Given the description of an element on the screen output the (x, y) to click on. 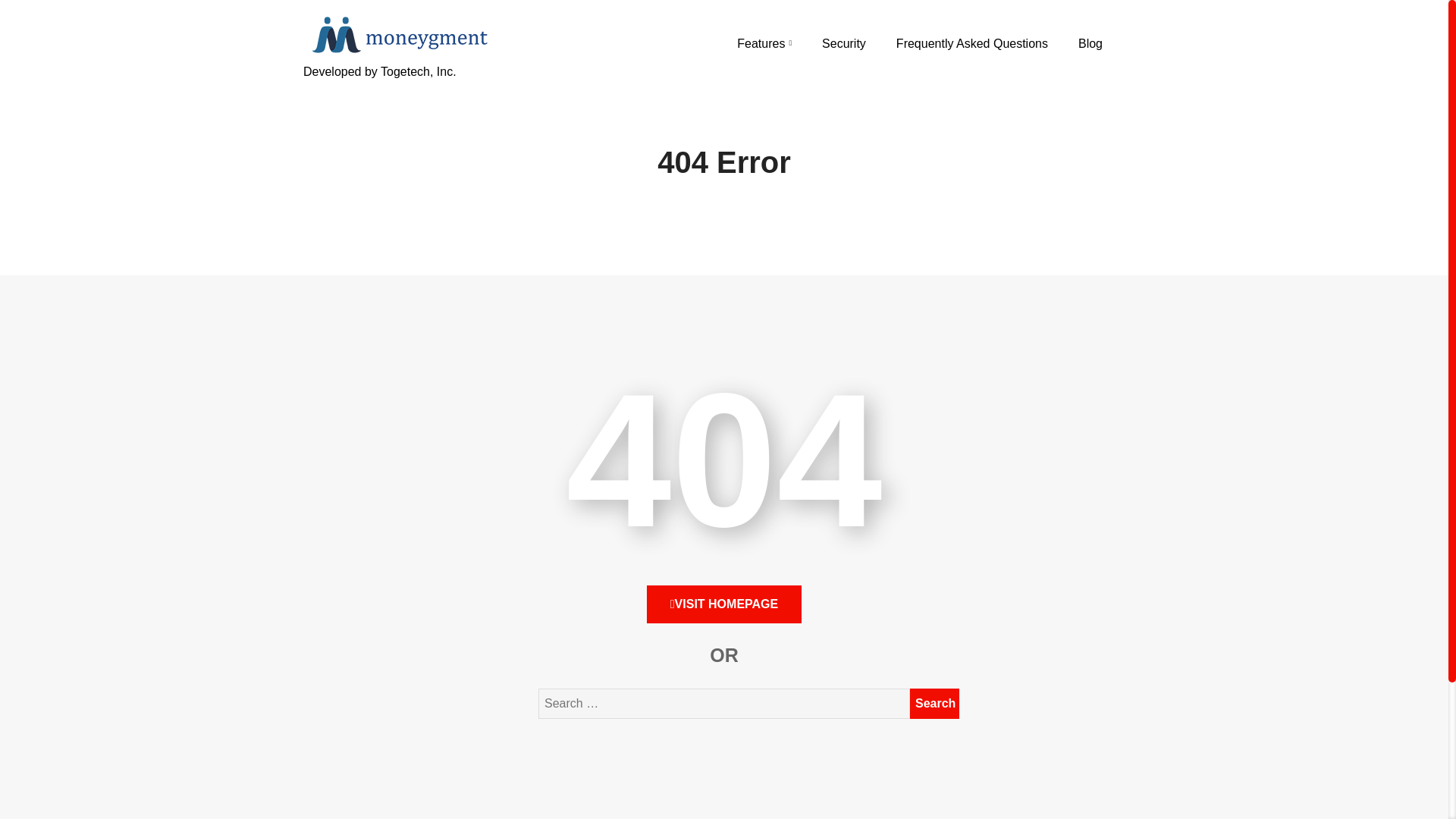
Search (934, 703)
Security (844, 43)
VISIT HOMEPAGE (724, 604)
Developed by Togetech, Inc. (397, 89)
Search (934, 703)
Search (934, 703)
Frequently Asked Questions (972, 43)
Features (764, 43)
